Given the description of an element on the screen output the (x, y) to click on. 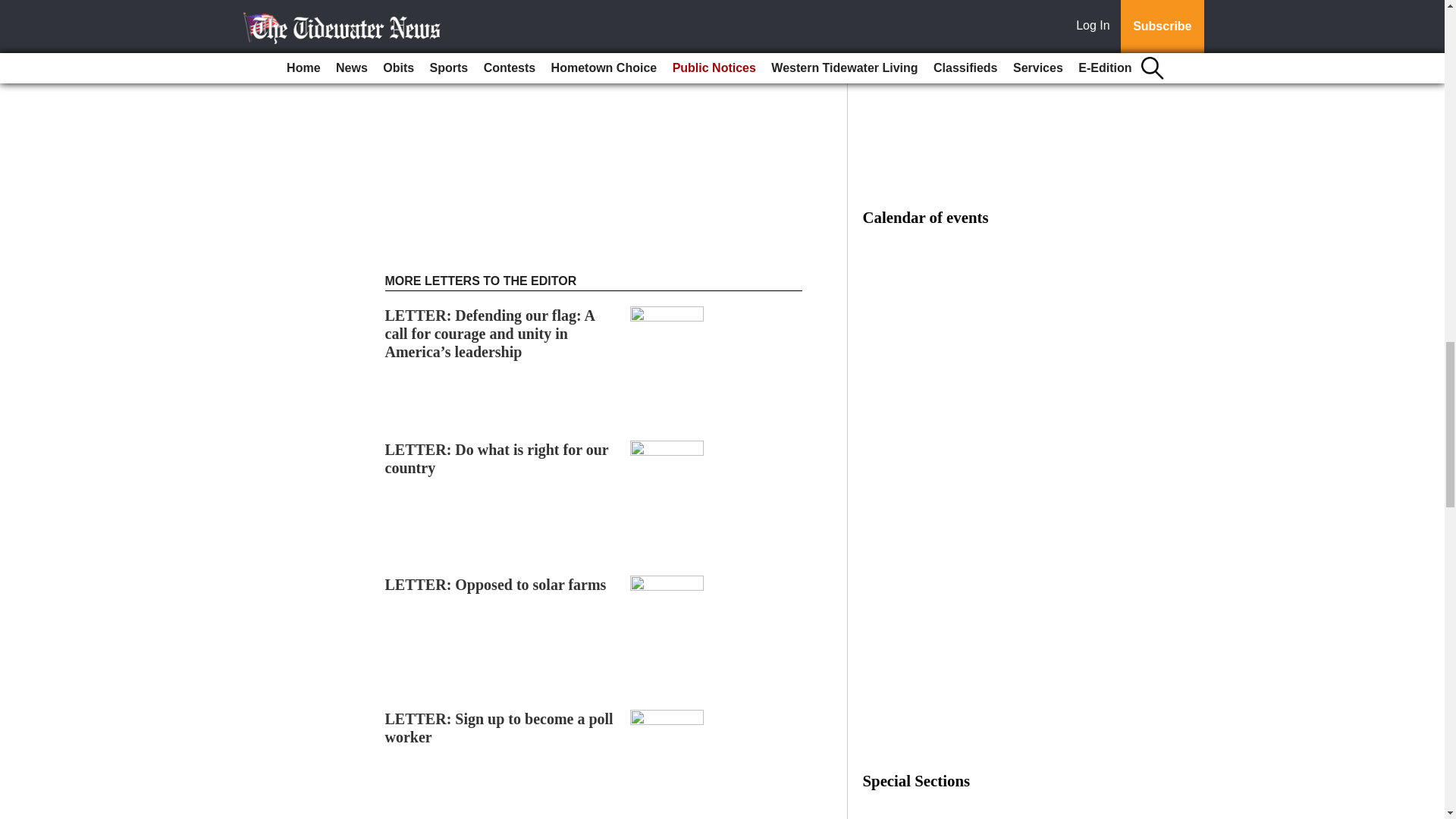
LETTER: Opposed to solar farms (496, 584)
LETTER: Do what is right for our country (496, 458)
LETTER: Do what is right for our country (496, 458)
LETTER: Sign up to become a poll worker (498, 727)
